Given the description of an element on the screen output the (x, y) to click on. 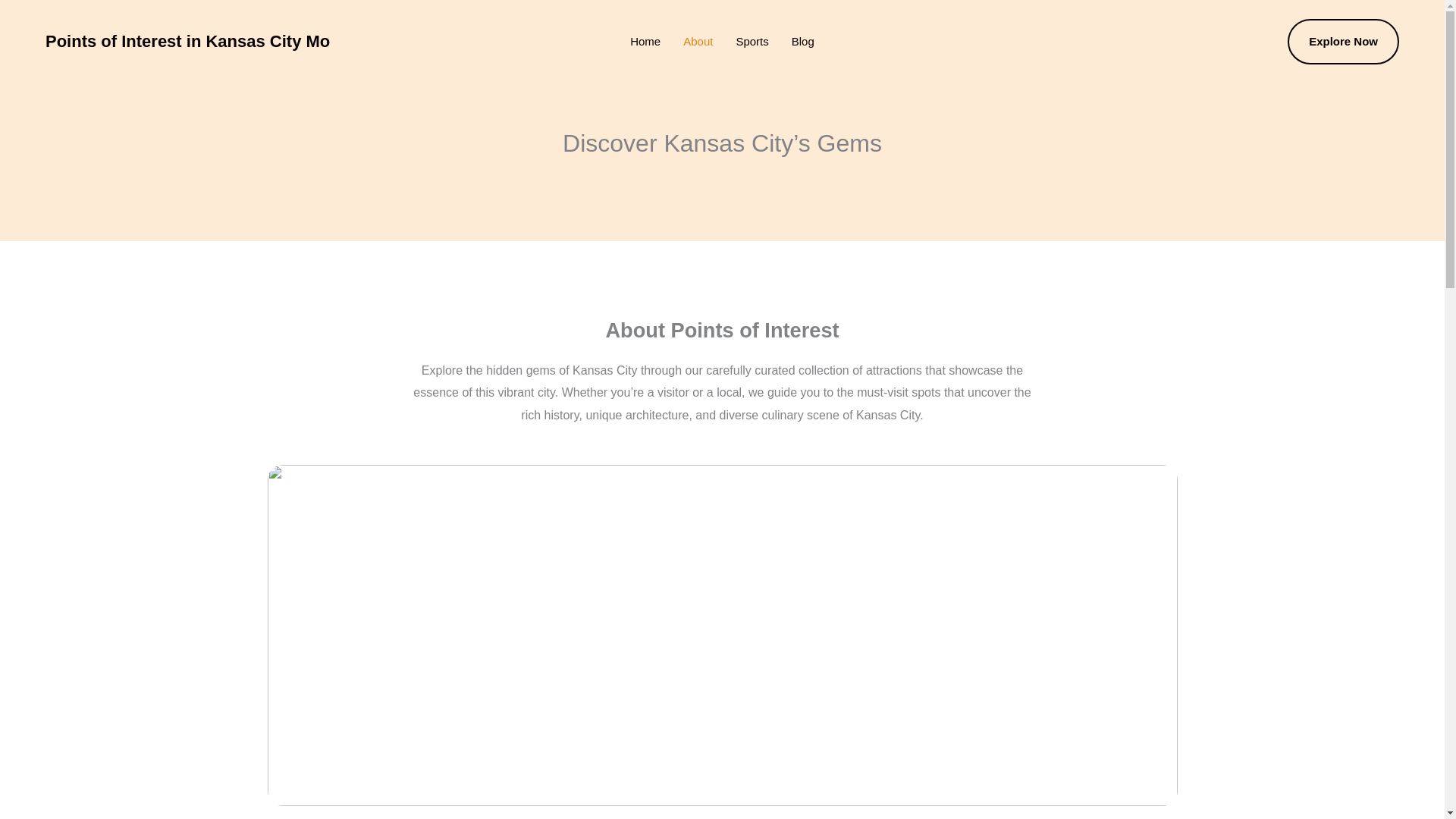
Points of Interest in Kansas City Mo (187, 40)
Blog (802, 41)
Explore Now (1343, 41)
About (697, 41)
Sports (750, 41)
Home (644, 41)
